Given the description of an element on the screen output the (x, y) to click on. 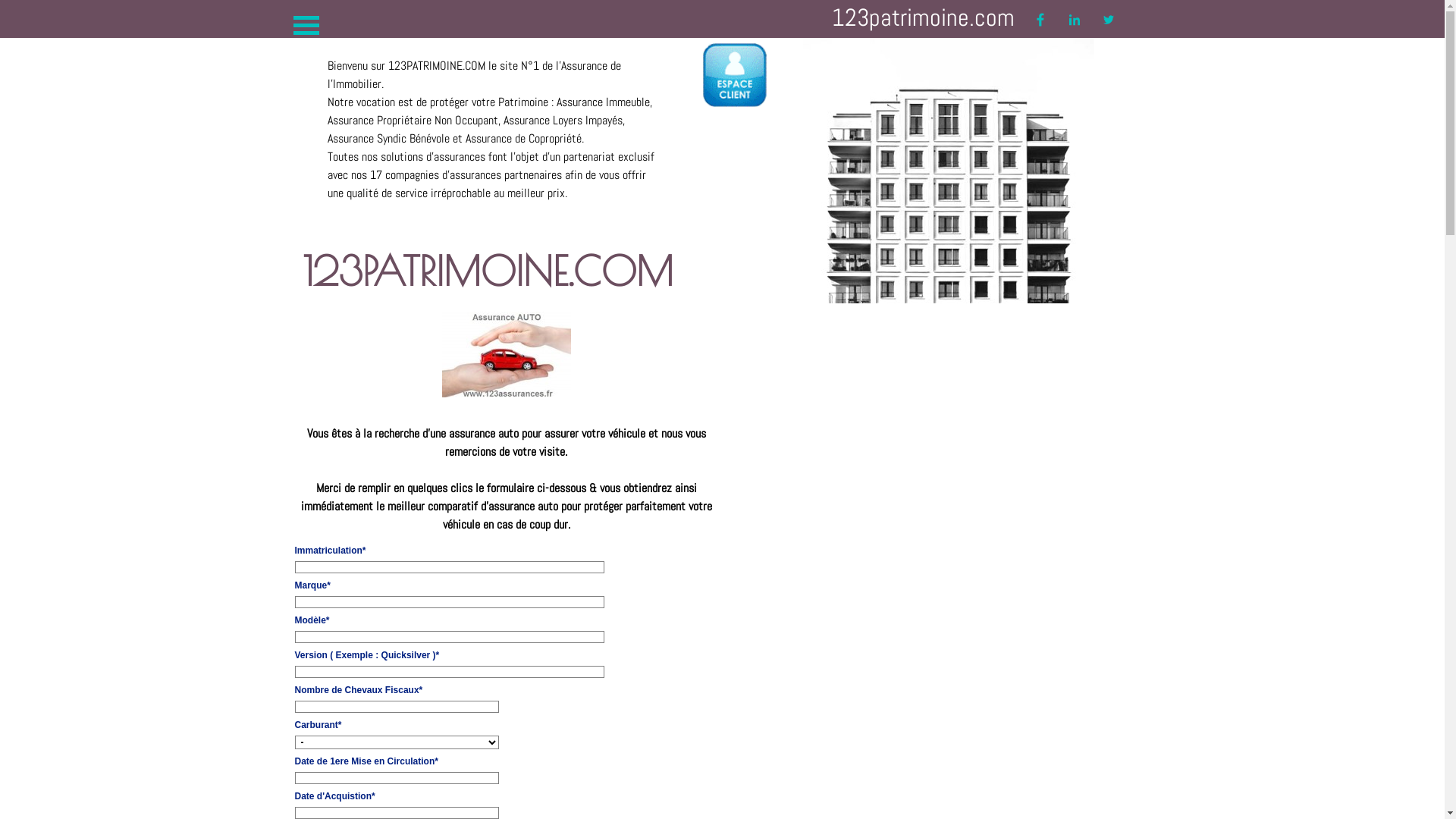
DEVIS ASSURANCE AUTO Element type: hover (505, 354)
